Given the description of an element on the screen output the (x, y) to click on. 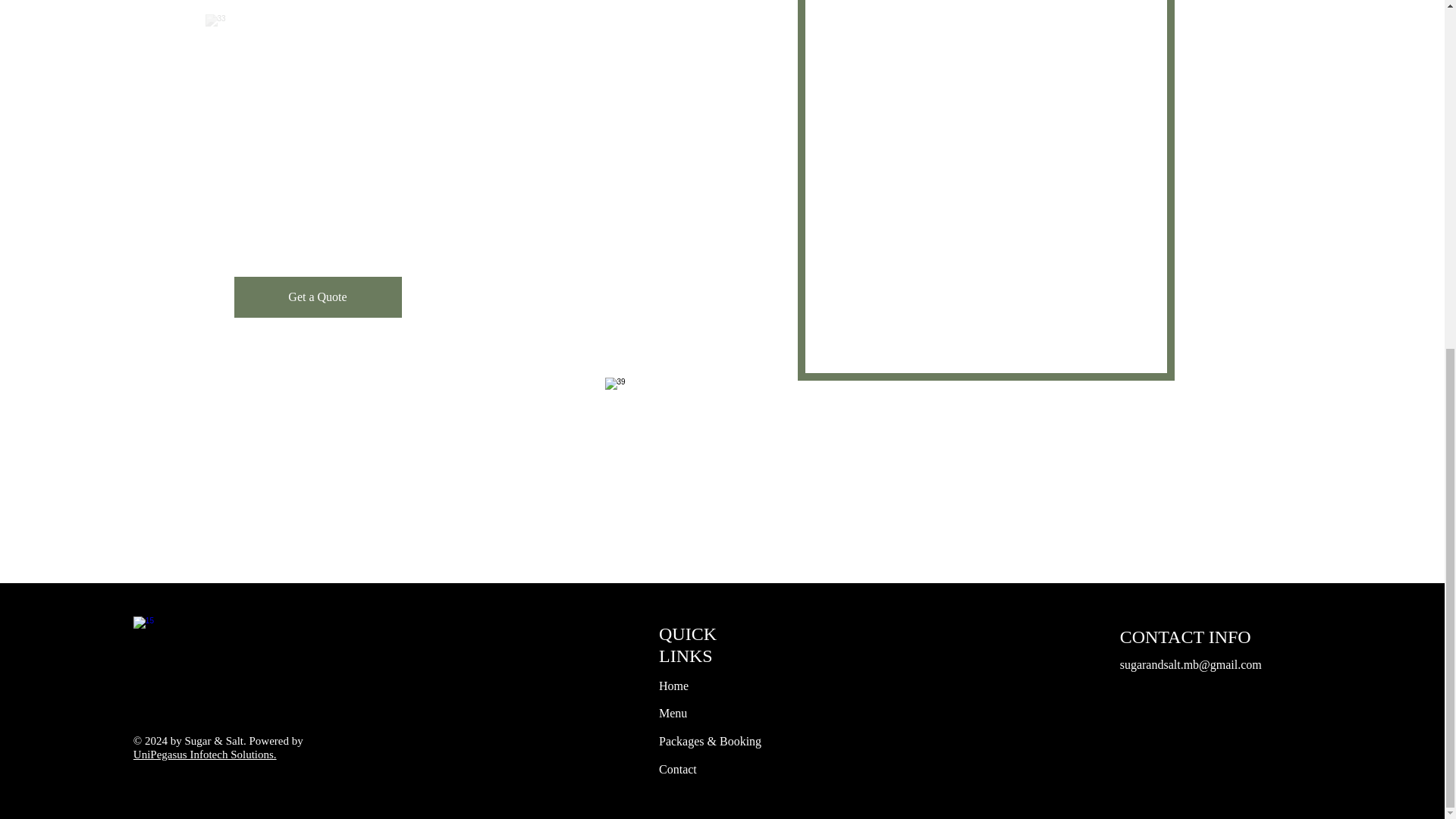
Get a Quote (316, 296)
Menu (673, 712)
Contact (678, 768)
Home (673, 685)
UniPegasus Infotech Solutions. (204, 754)
